Given the description of an element on the screen output the (x, y) to click on. 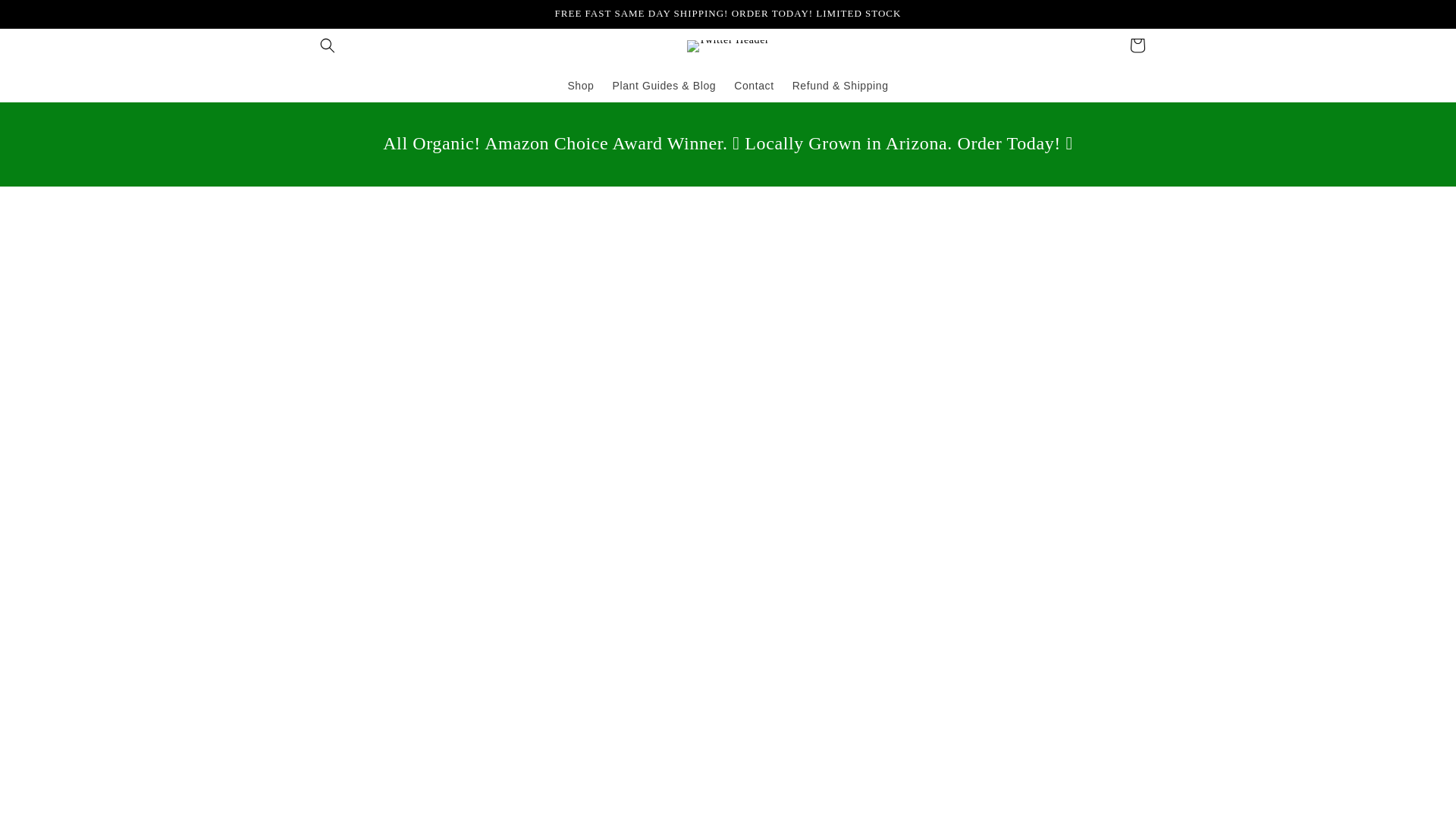
Cart (1137, 45)
Contact (754, 85)
Shop (579, 85)
Skip to content (46, 18)
